Given the description of an element on the screen output the (x, y) to click on. 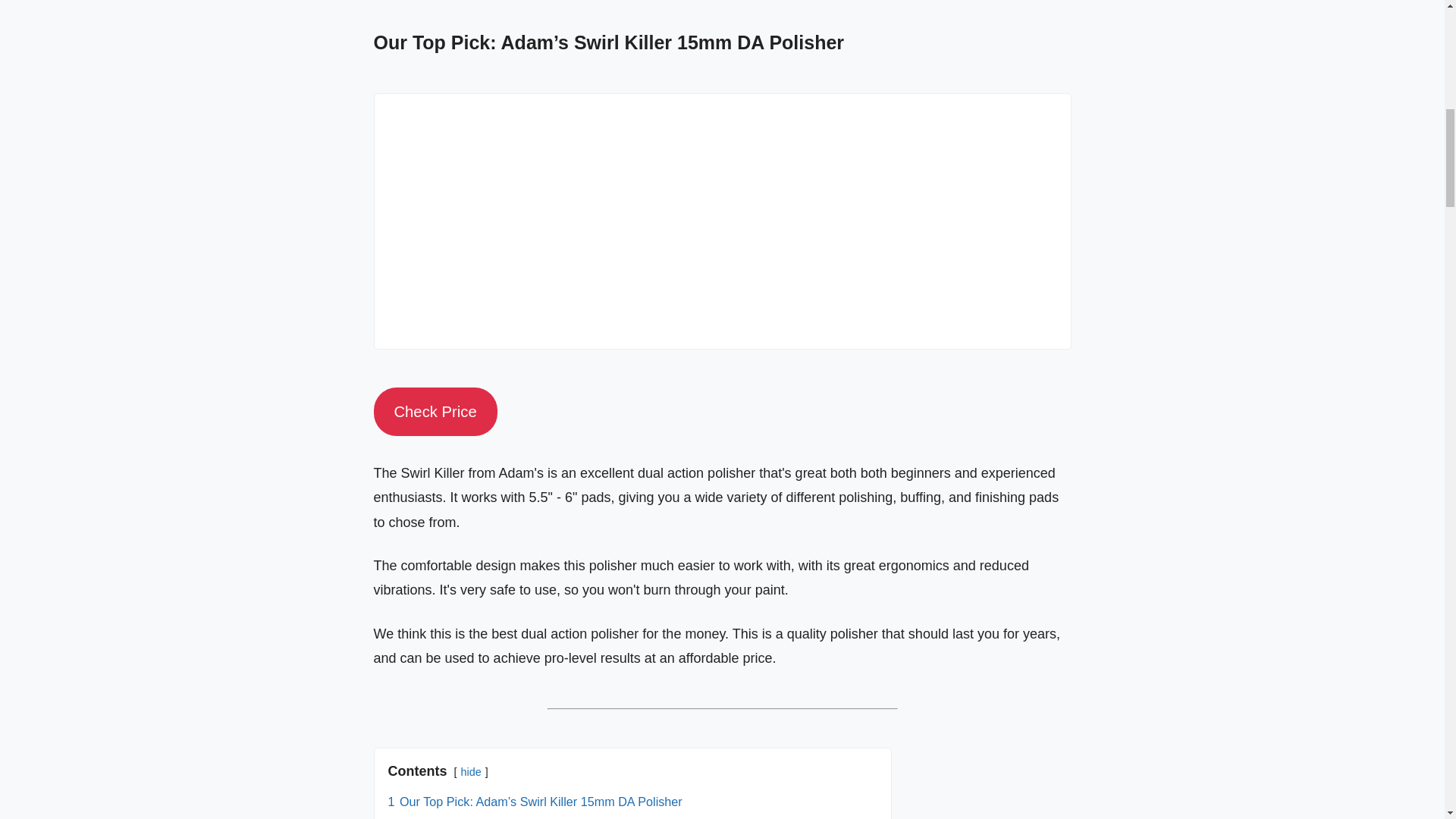
hide (471, 771)
Check Price (434, 410)
